Given the description of an element on the screen output the (x, y) to click on. 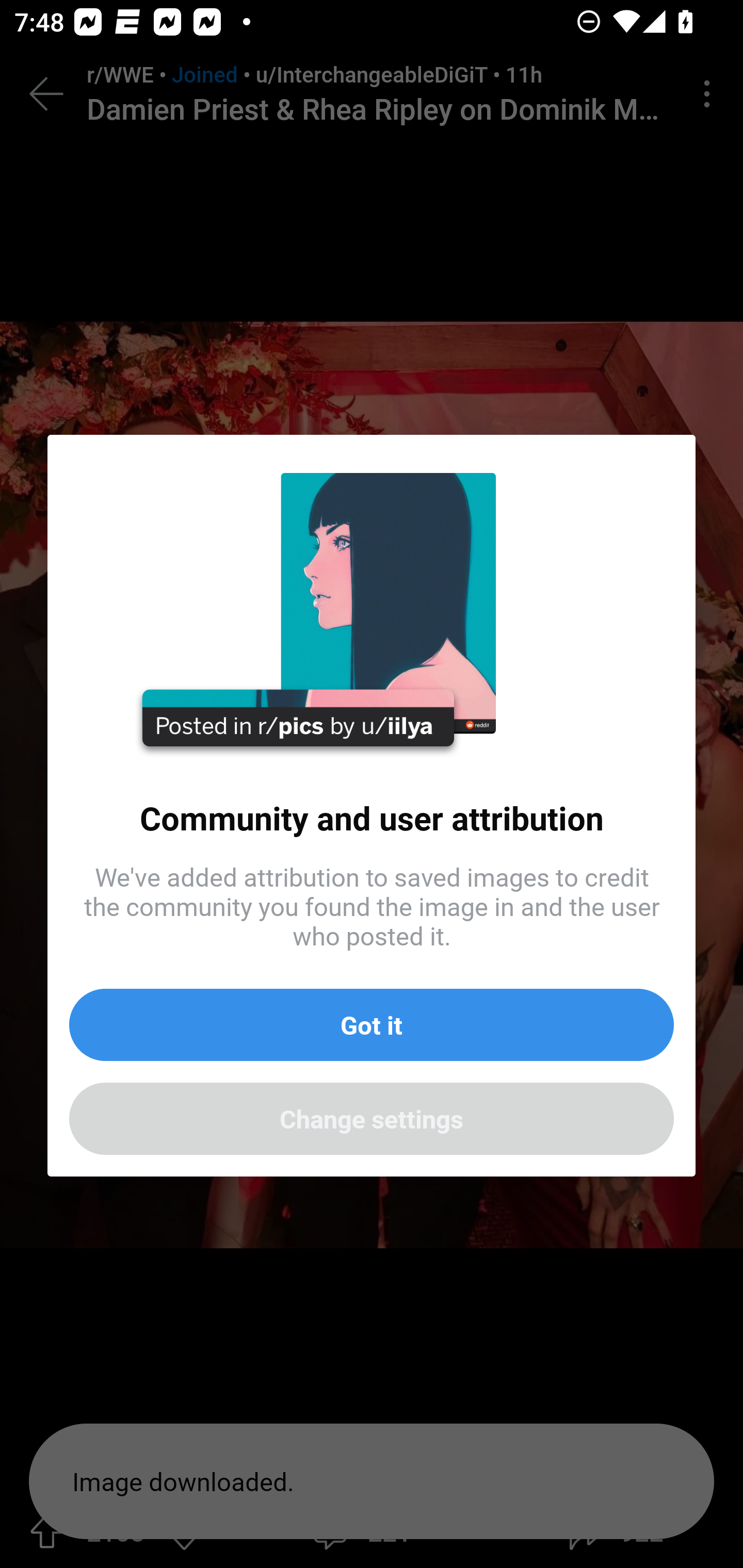
Got it (371, 1025)
Change settings (371, 1118)
